Given the description of an element on the screen output the (x, y) to click on. 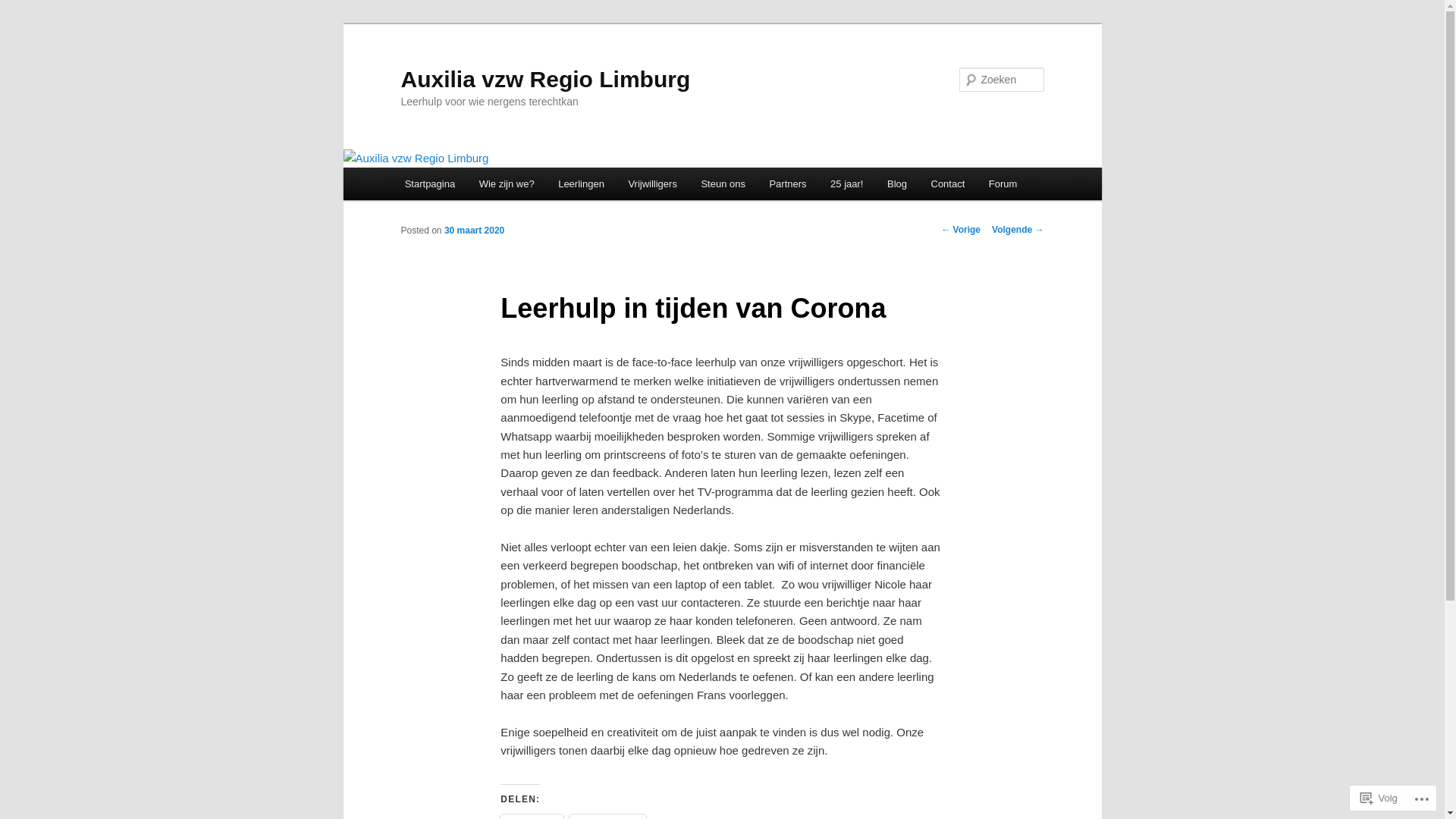
Spring naar de primaire inhoud Element type: text (22, 22)
Volg Element type: text (1378, 797)
Zoeken Element type: text (25, 8)
Contact Element type: text (947, 183)
Forum Element type: text (1002, 183)
Blog Element type: text (897, 183)
Leerlingen Element type: text (580, 183)
30 maart 2020 Element type: text (474, 230)
25 jaar! Element type: text (846, 183)
Wie zijn we? Element type: text (506, 183)
Startpagina Element type: text (429, 183)
Auxilia vzw Regio Limburg Element type: text (545, 78)
Vrijwilligers Element type: text (652, 183)
Steun ons Element type: text (723, 183)
Partners Element type: text (788, 183)
